Given the description of an element on the screen output the (x, y) to click on. 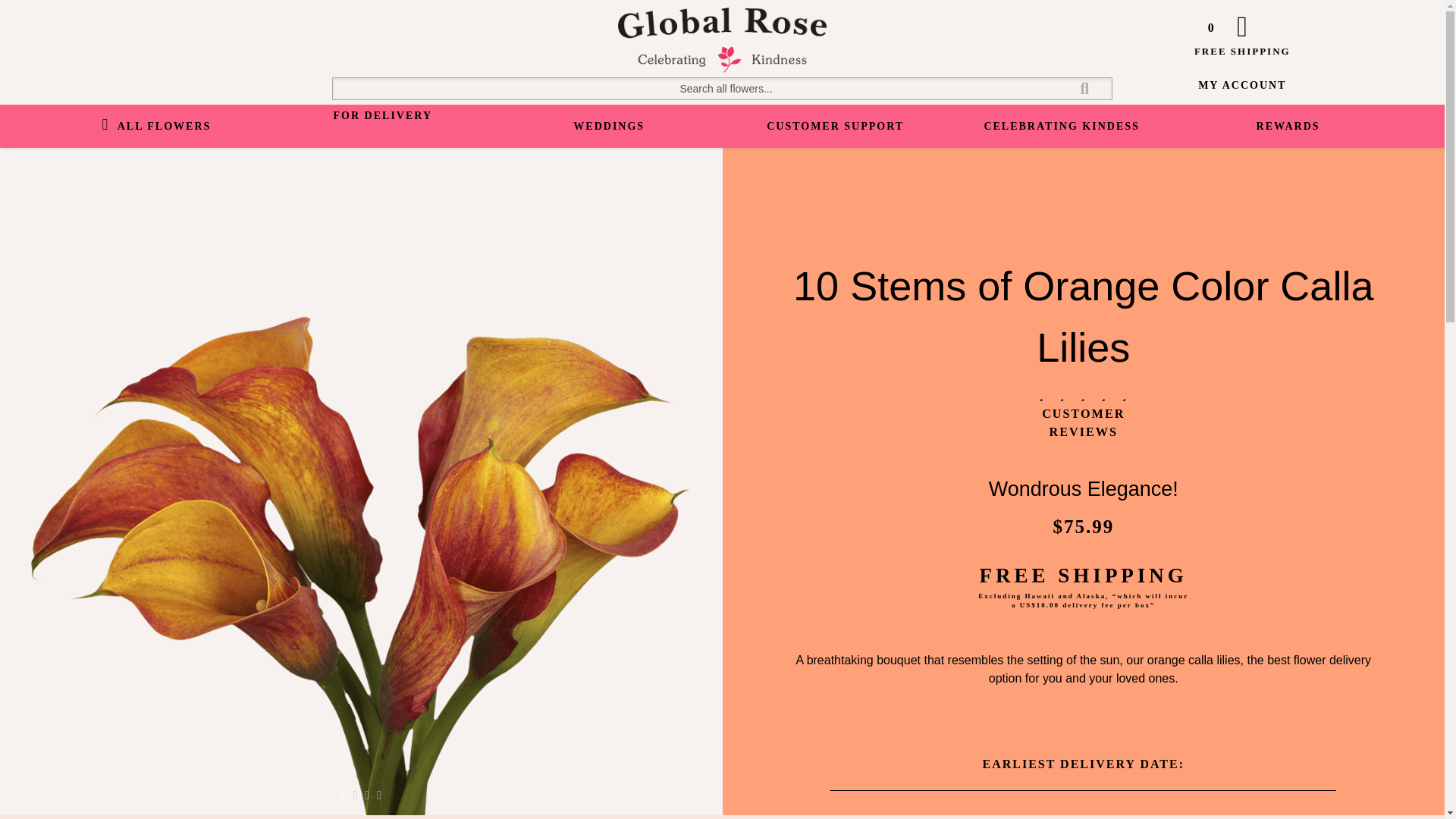
Search all flowers... (721, 87)
search-button (1084, 87)
GlobalRose.com (722, 39)
Cart (1242, 25)
GlobalRose (722, 69)
search (721, 87)
Search all flowers... (721, 87)
